Given the description of an element on the screen output the (x, y) to click on. 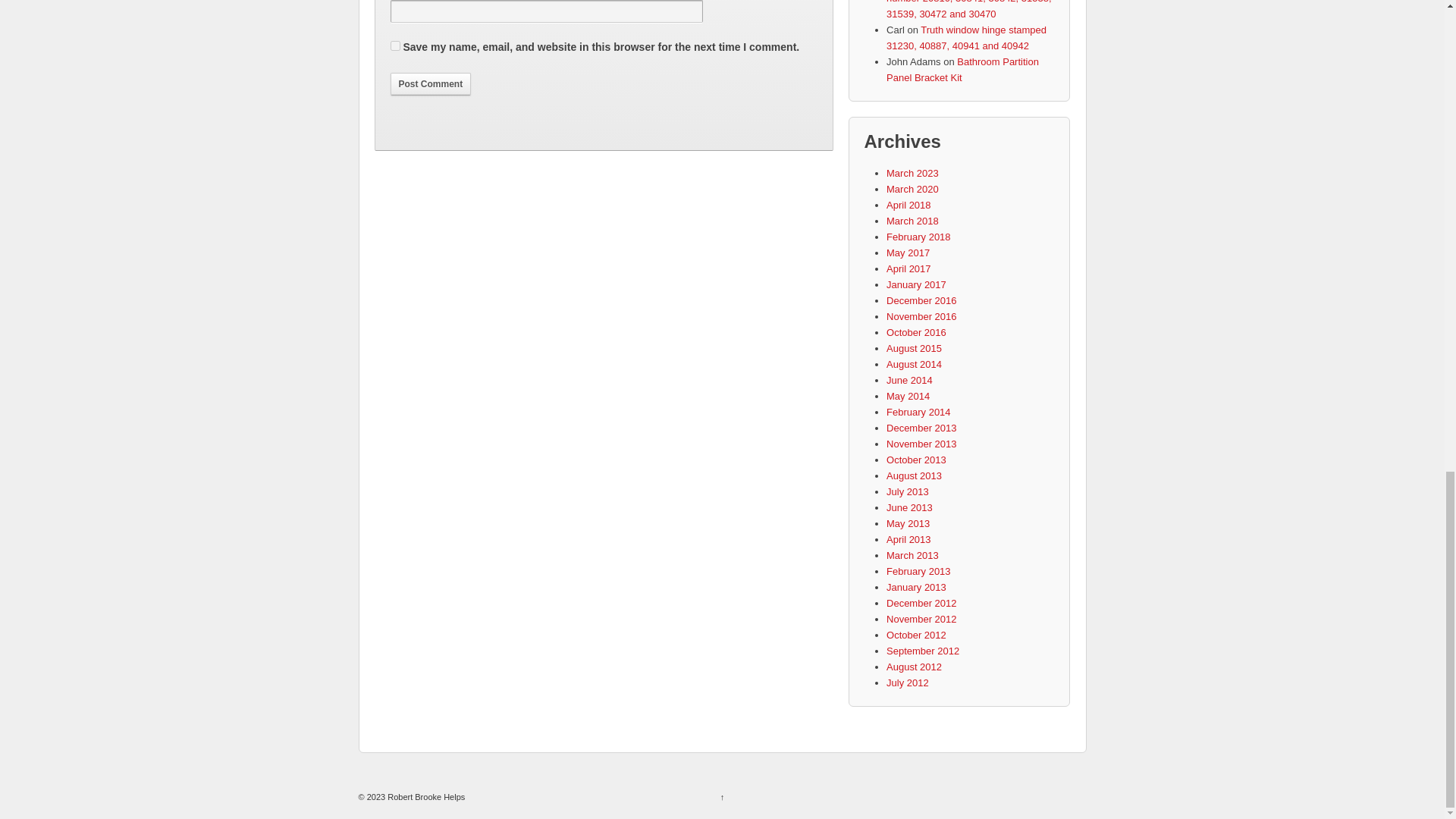
Post Comment (430, 83)
Post Comment (430, 83)
yes (394, 45)
Robert Brooke Helps (424, 796)
